Given the description of an element on the screen output the (x, y) to click on. 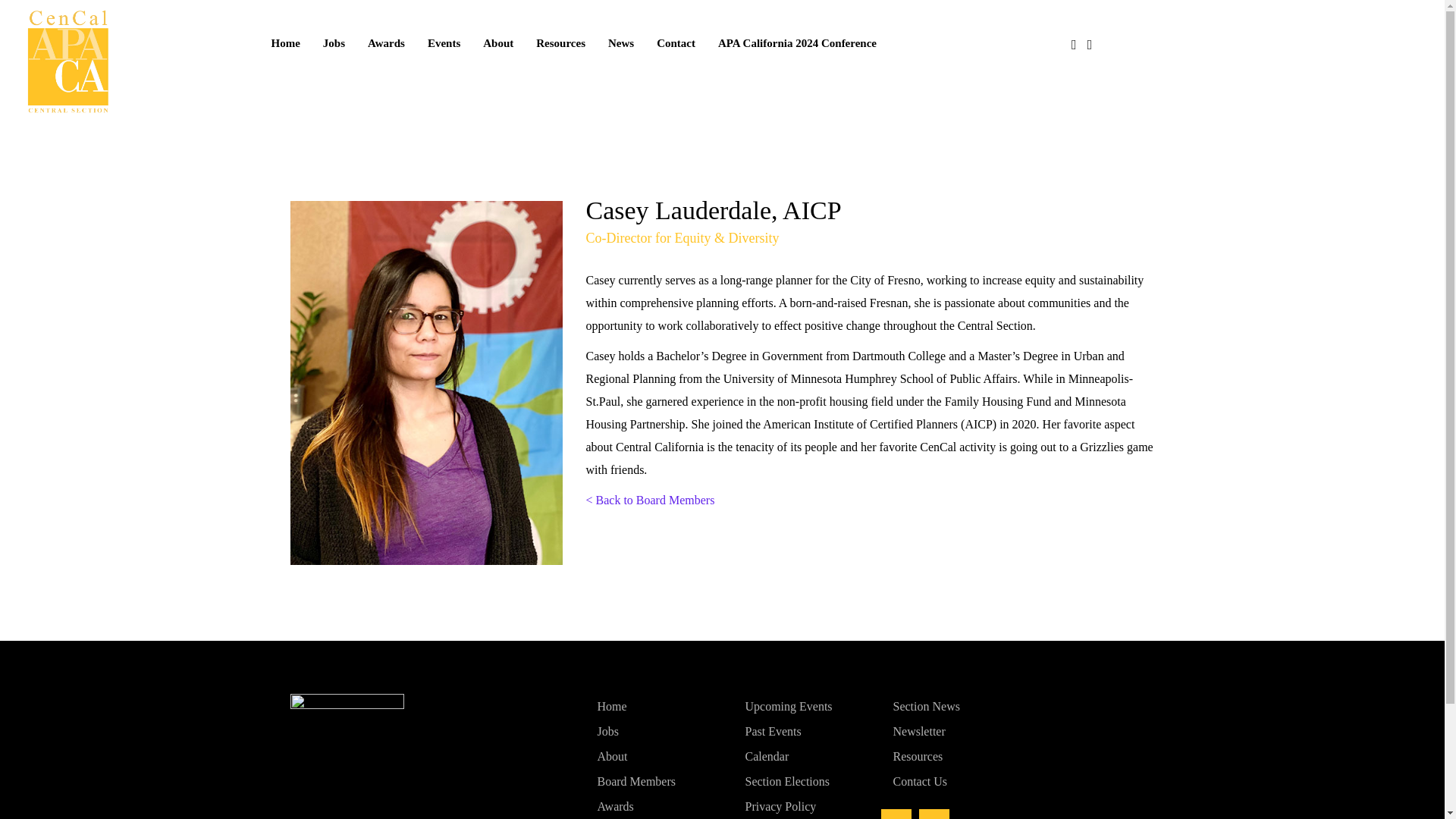
Resources (560, 43)
Jobs (653, 731)
Home (653, 705)
APA California 2024 Conference (797, 43)
About (653, 755)
